Given the description of an element on the screen output the (x, y) to click on. 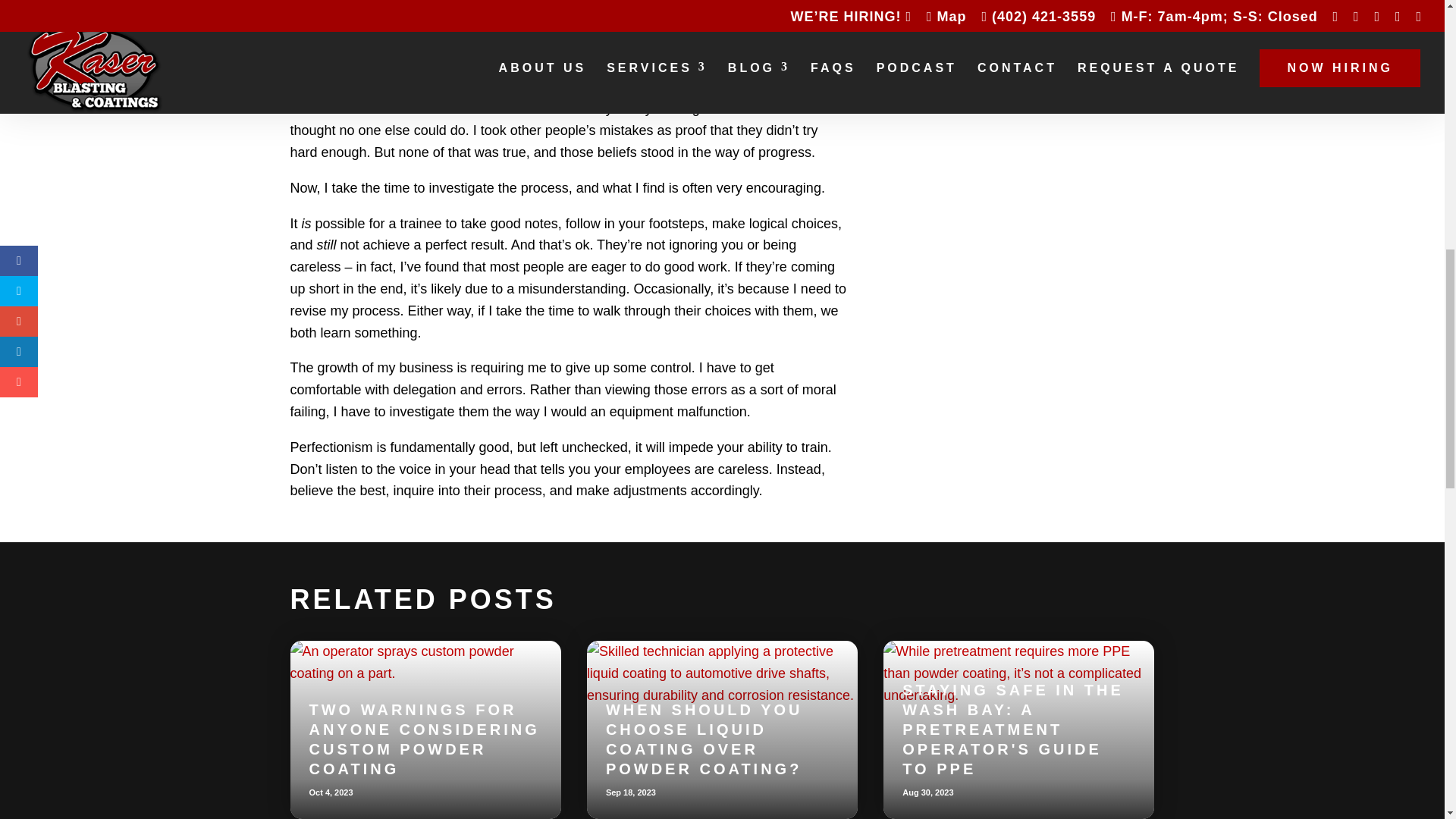
WHEN SHOULD YOU CHOOSE LIQUID COATING OVER POWDER COATING? (704, 739)
TWO WARNINGS FOR ANYONE CONSIDERING CUSTOM POWDER COATING (424, 739)
